Given the description of an element on the screen output the (x, y) to click on. 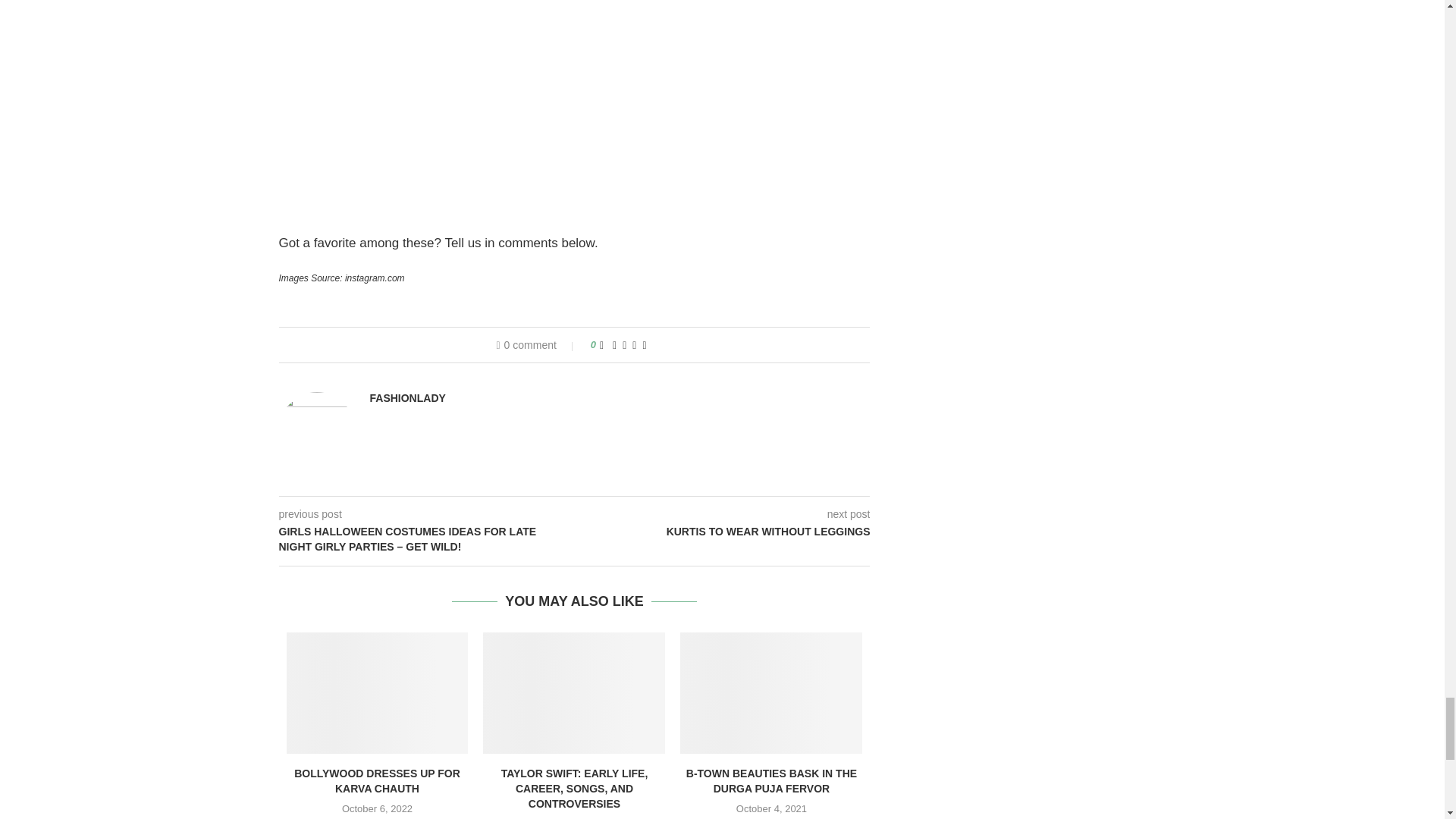
Bollywood Dresses Up For Karva Chauth (377, 692)
B-Town Beauties Bask In The Durga Puja Fervor (770, 692)
Author Fashionlady (407, 398)
Taylor Swift: Early Life, Career, Songs, And Controversies (574, 692)
